Given the description of an element on the screen output the (x, y) to click on. 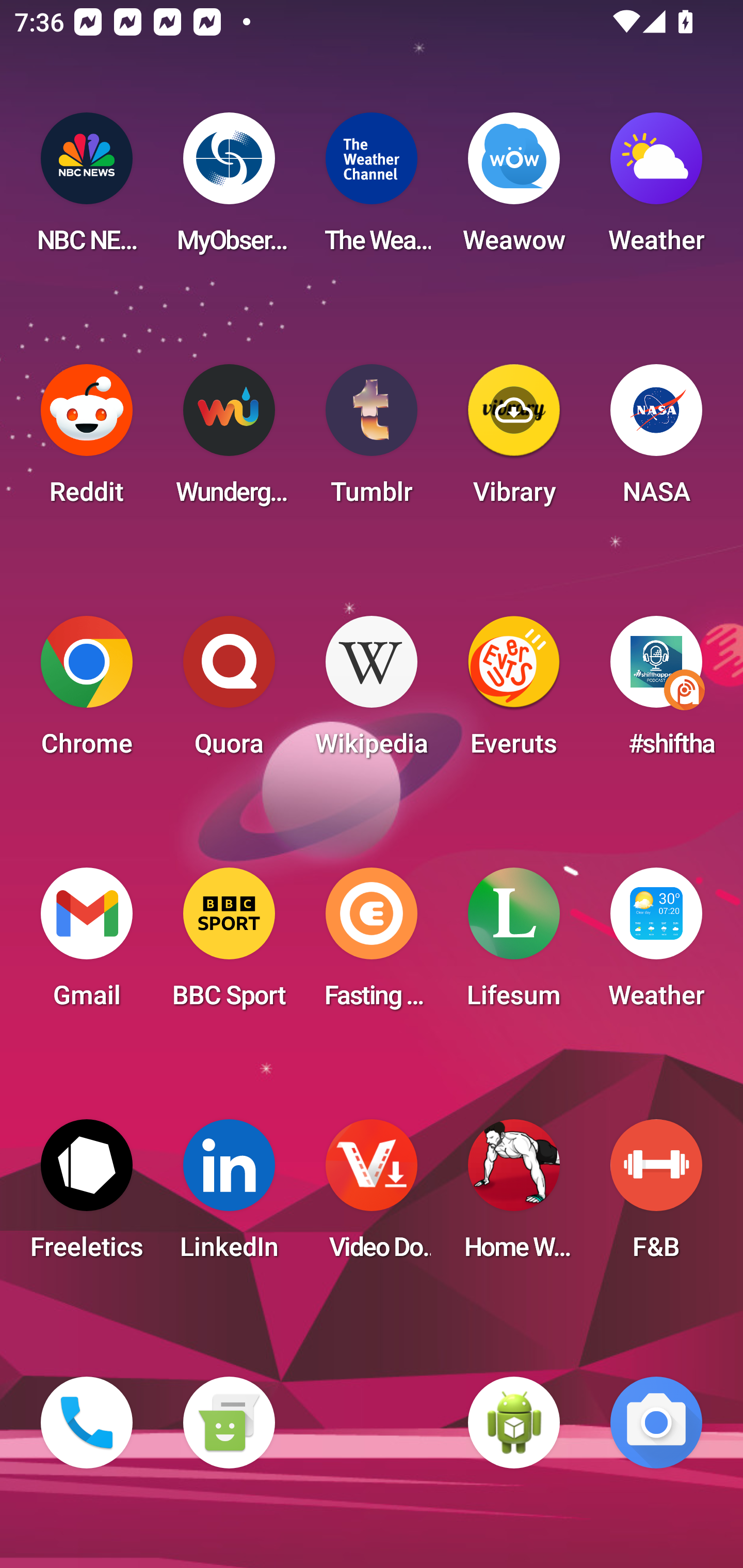
NBC NEWS (86, 188)
MyObservatory (228, 188)
The Weather Channel (371, 188)
Weawow (513, 188)
Weather (656, 188)
Reddit (86, 440)
Wunderground (228, 440)
Tumblr (371, 440)
Vibrary (513, 440)
NASA (656, 440)
Chrome (86, 692)
Quora (228, 692)
Wikipedia (371, 692)
Everuts (513, 692)
#shifthappens in the Digital Workplace Podcast (656, 692)
Gmail (86, 943)
BBC Sport (228, 943)
Fasting Coach (371, 943)
Lifesum (513, 943)
Weather (656, 943)
Freeletics (86, 1195)
LinkedIn (228, 1195)
Video Downloader & Ace Player (371, 1195)
Home Workout (513, 1195)
F&B (656, 1195)
Phone (86, 1422)
Messaging (228, 1422)
WebView Browser Tester (513, 1422)
Camera (656, 1422)
